Given the description of an element on the screen output the (x, y) to click on. 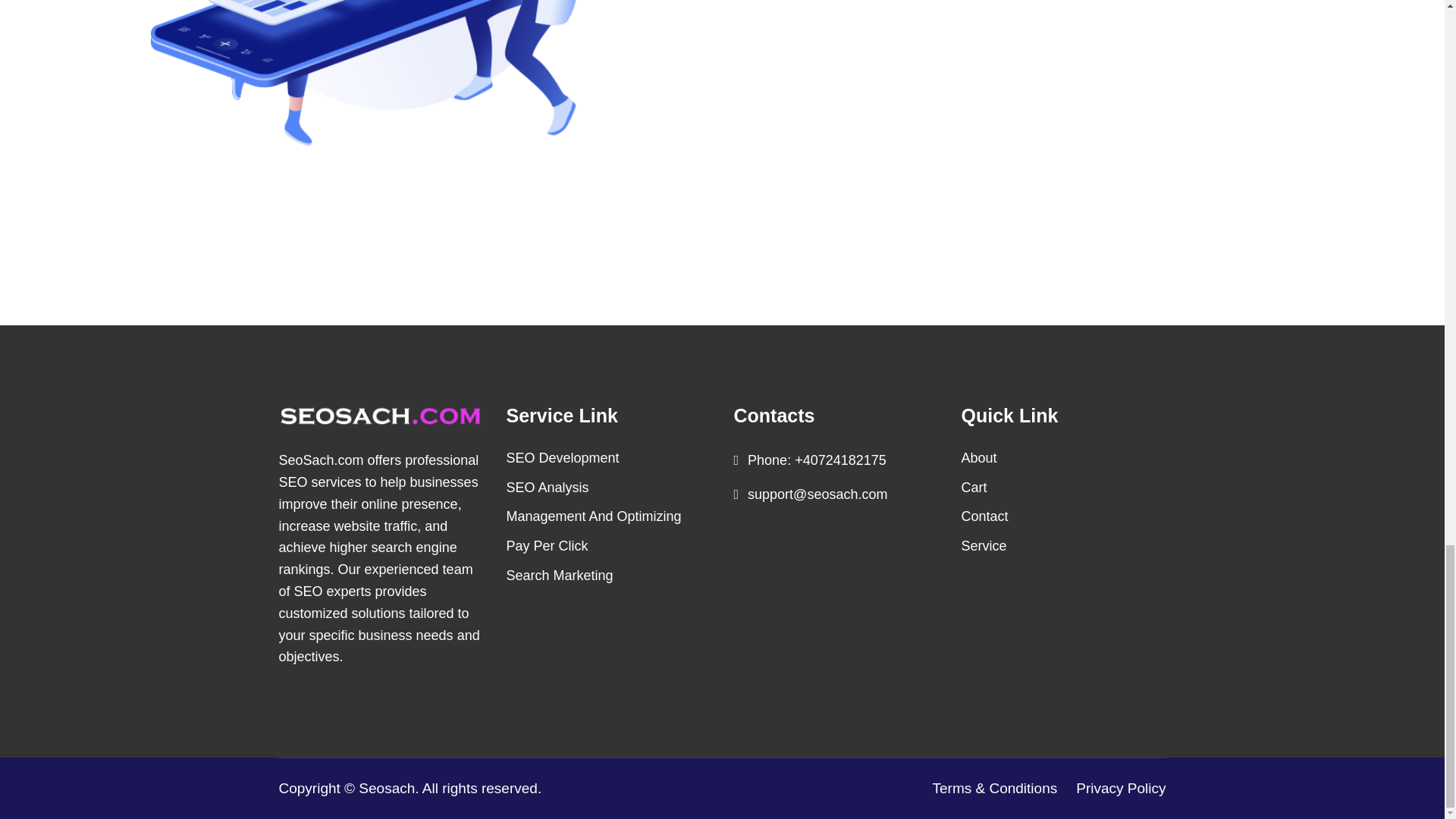
SEO Development (563, 458)
Contact (984, 516)
SEO Analysis (547, 487)
Search Marketing (559, 575)
Service (983, 545)
About (978, 458)
Privacy Policy (1117, 788)
Pay Per Click (547, 545)
Cart (973, 487)
Management And Optimizing (593, 516)
